Given the description of an element on the screen output the (x, y) to click on. 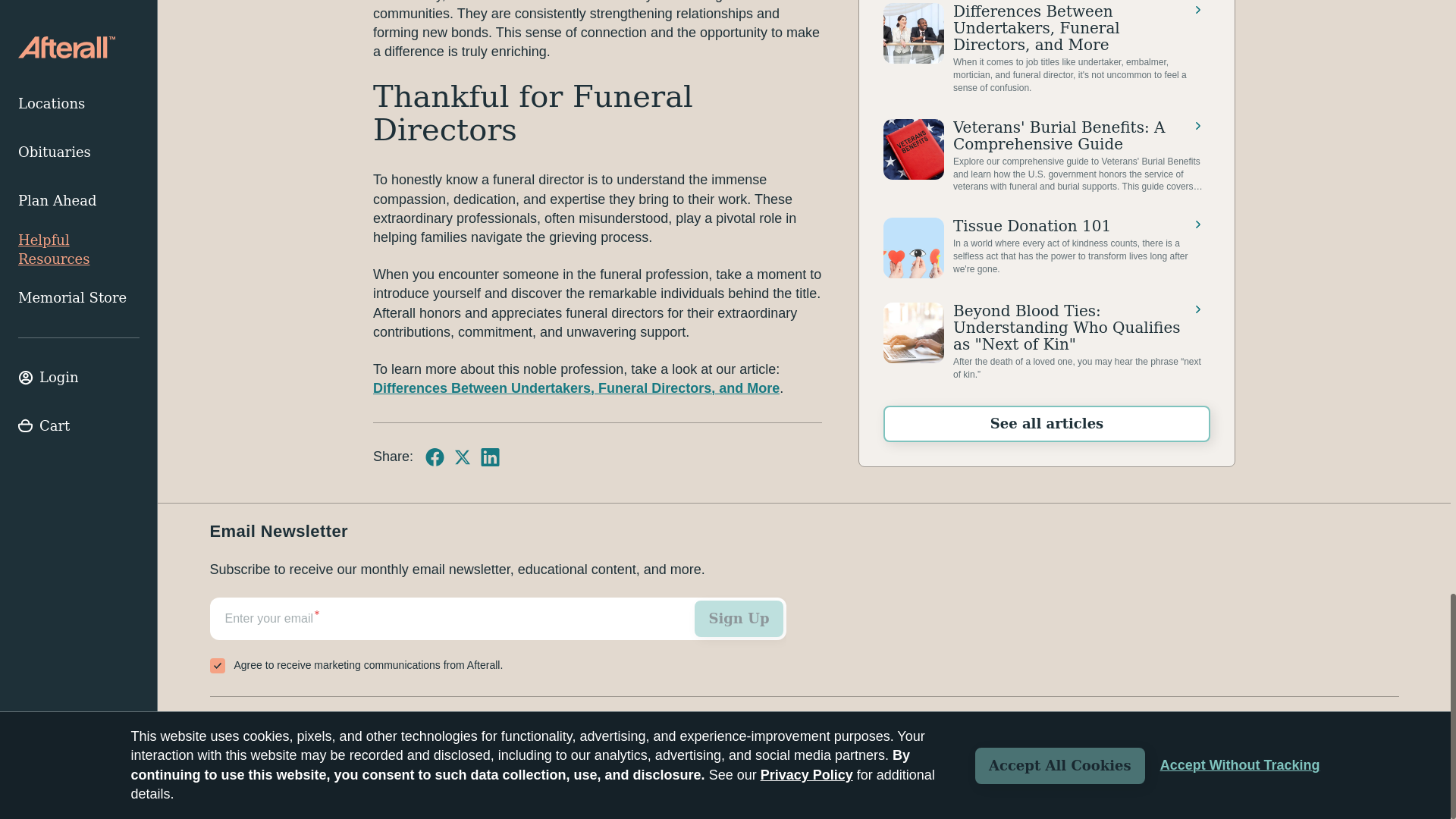
FAQs (341, 724)
Privacy Policy (1362, 777)
LinkedIn (489, 456)
Sign Up (738, 618)
Track an Order (257, 724)
Facebook (434, 456)
Twitter (461, 457)
Email Newsletter (497, 637)
Differences Between Undertakers, Funeral Directors, and More (575, 387)
